Given the description of an element on the screen output the (x, y) to click on. 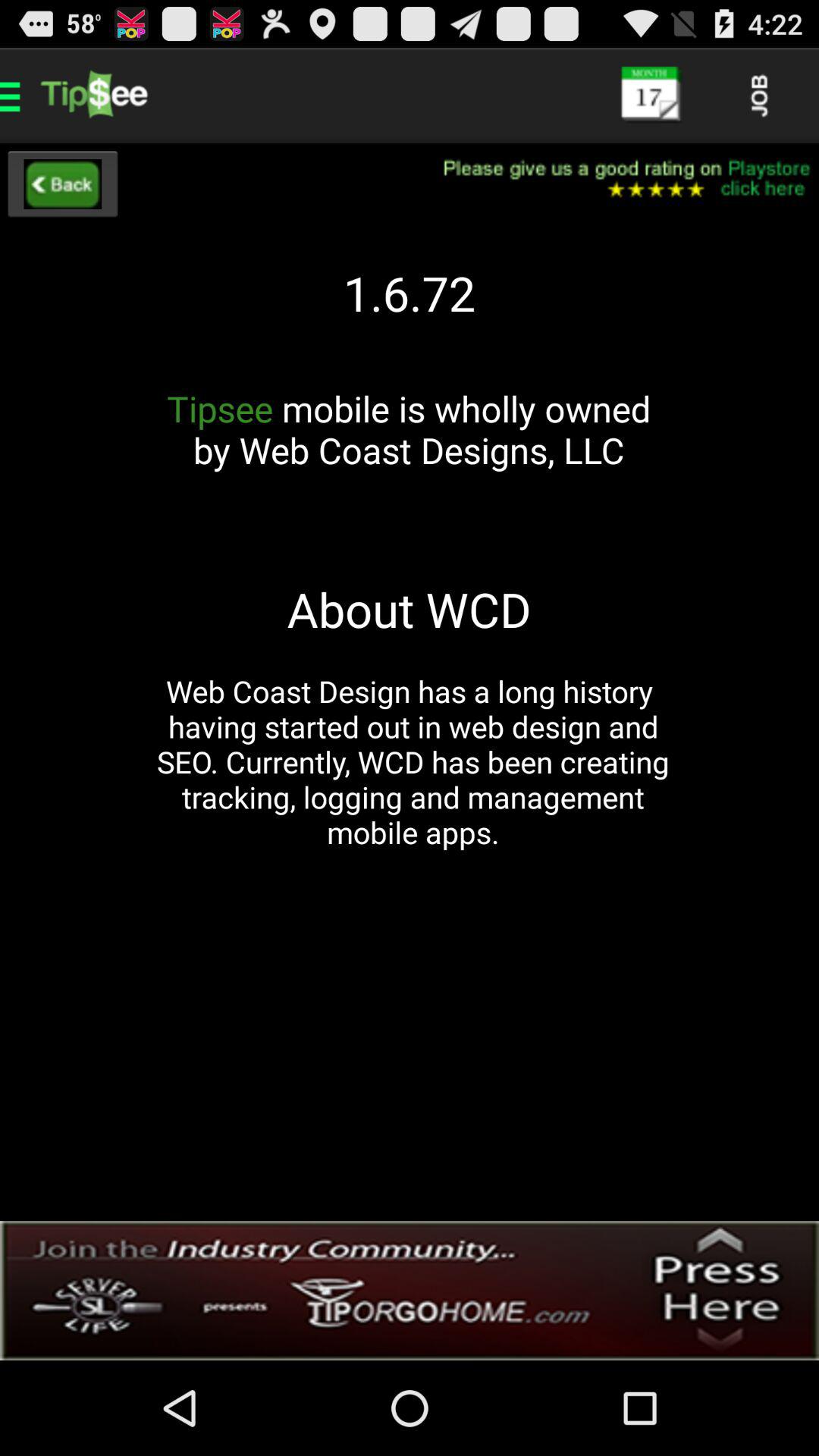
go back (62, 184)
